Given the description of an element on the screen output the (x, y) to click on. 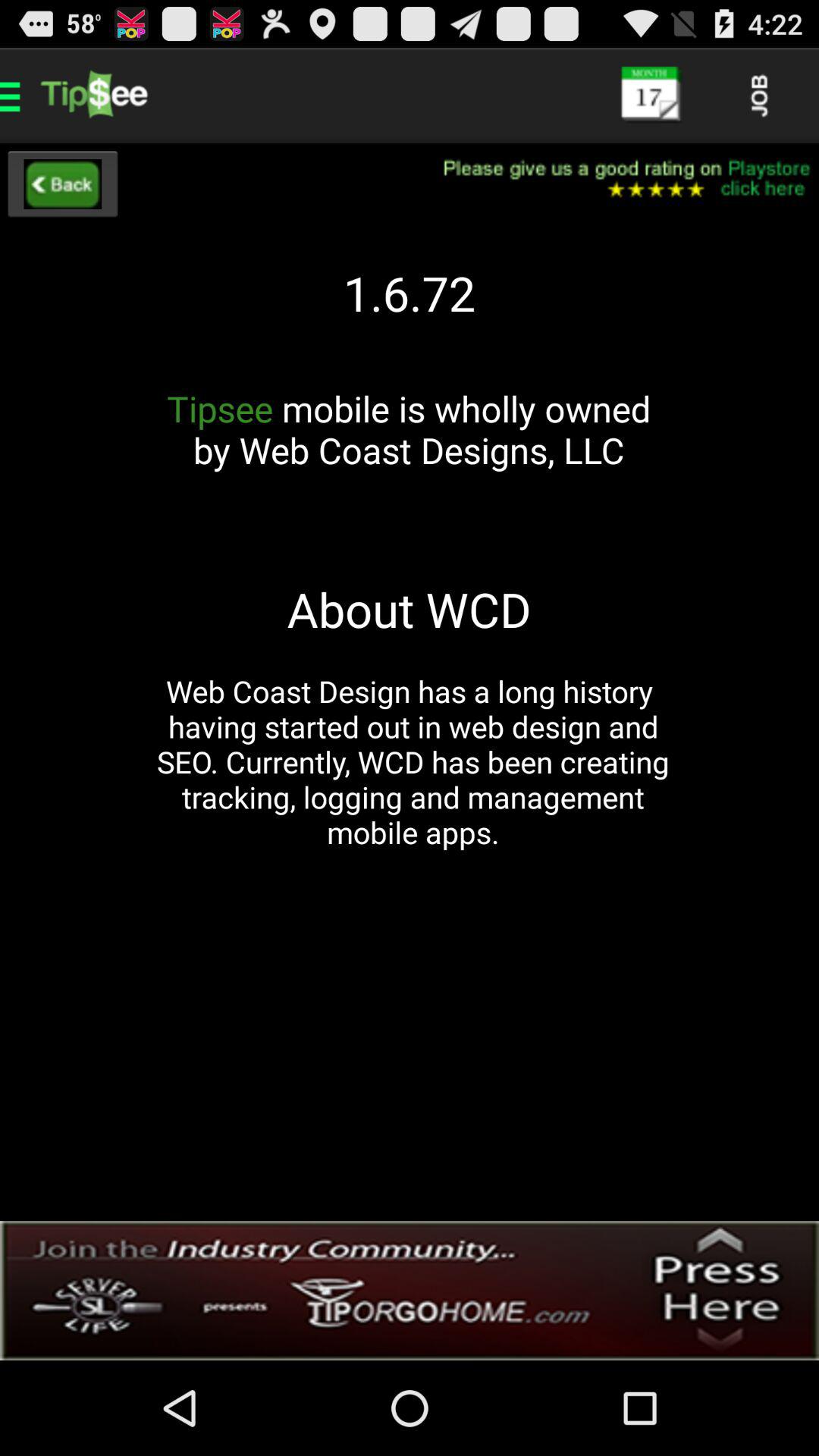
go back (62, 184)
